Given the description of an element on the screen output the (x, y) to click on. 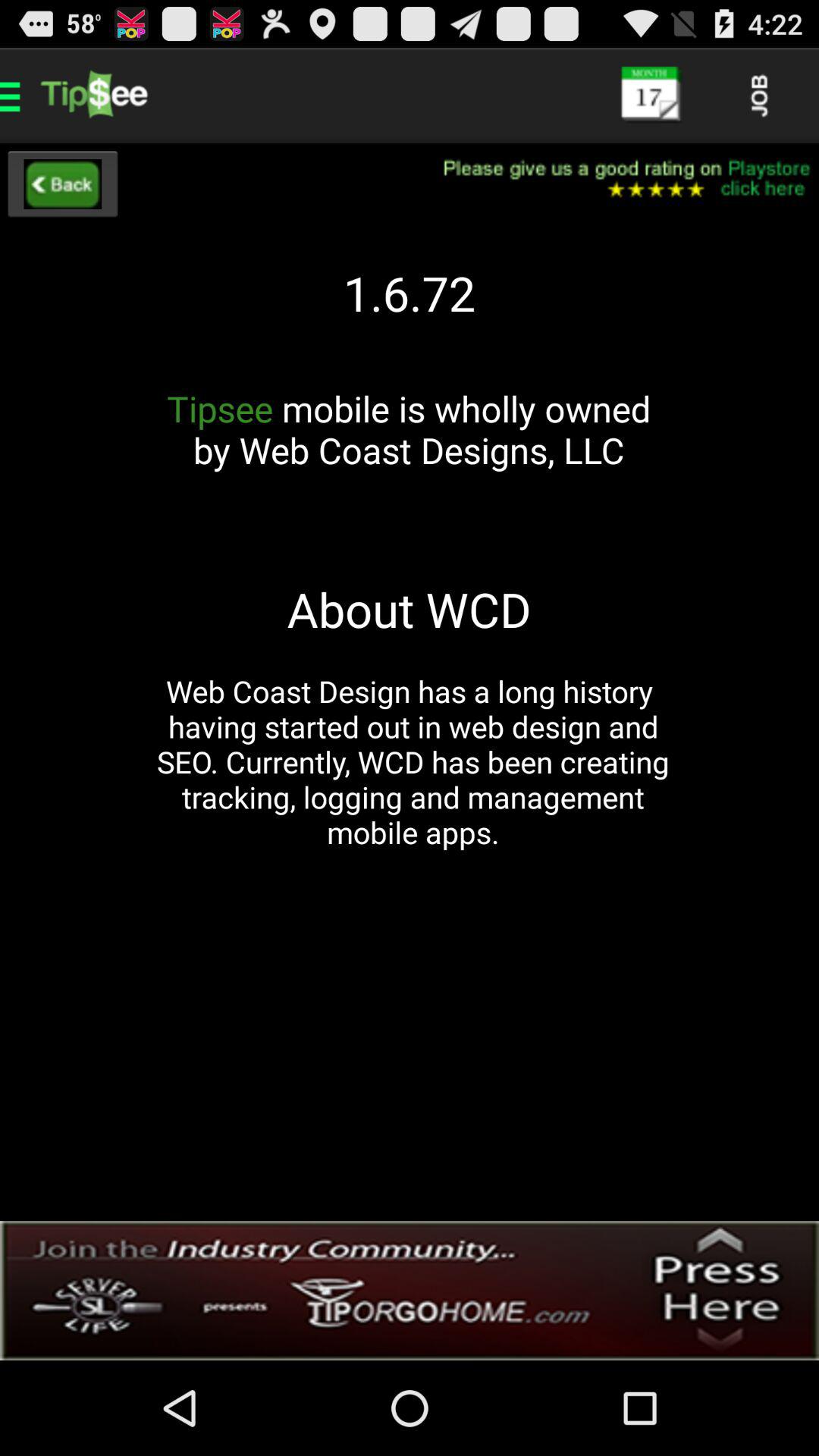
go back (62, 184)
